Given the description of an element on the screen output the (x, y) to click on. 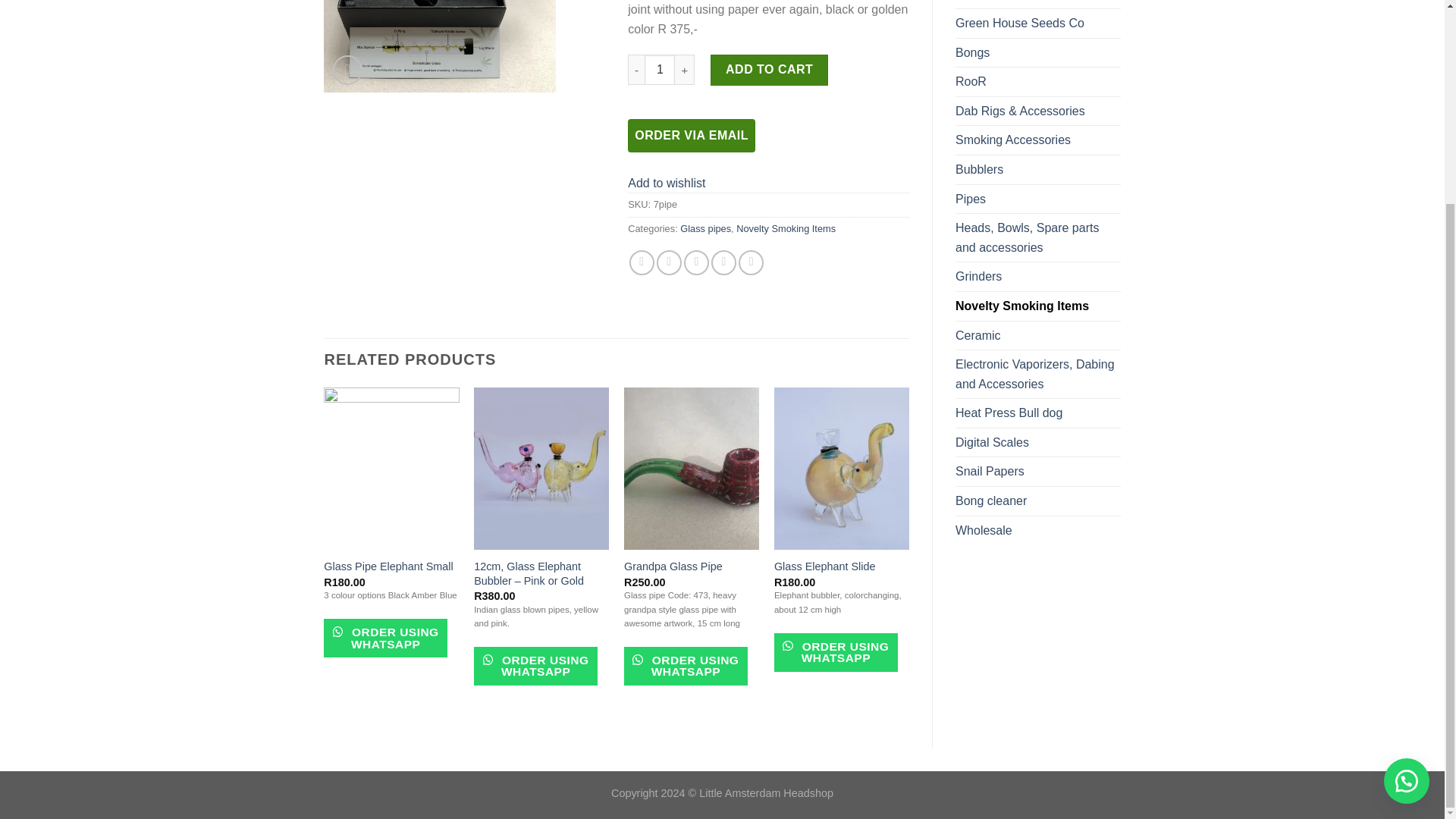
1 (660, 69)
ORDER VIA EMAIL (691, 135)
Qty (660, 69)
Zoom (347, 70)
Kratom (1038, 4)
8D1BDEFF-016D-48CA-B1C0-5D6661BD8C70 (439, 46)
Pipes (1038, 199)
Bongs (1038, 52)
Share on Facebook (640, 262)
RooR (1038, 81)
